Given the description of an element on the screen output the (x, y) to click on. 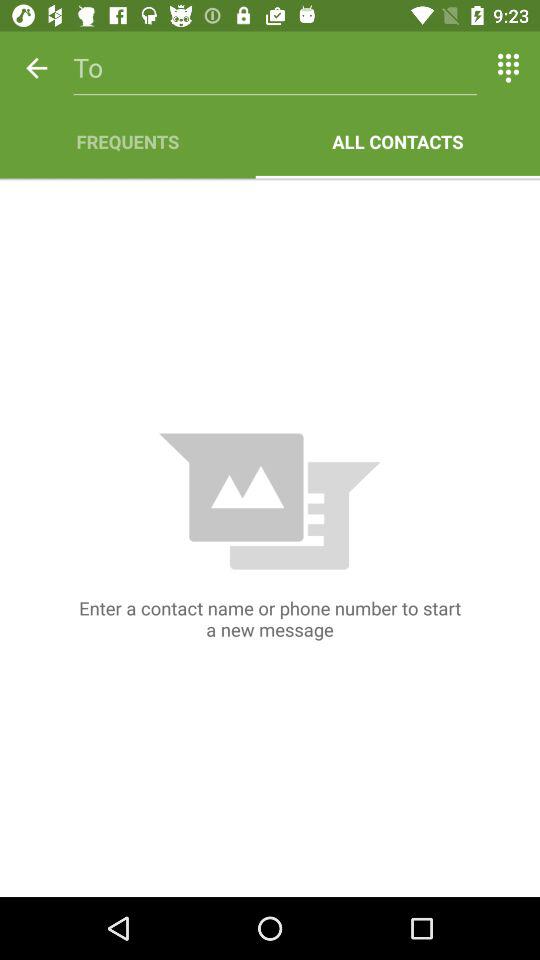
turn on the app above the frequents (274, 67)
